Given the description of an element on the screen output the (x, y) to click on. 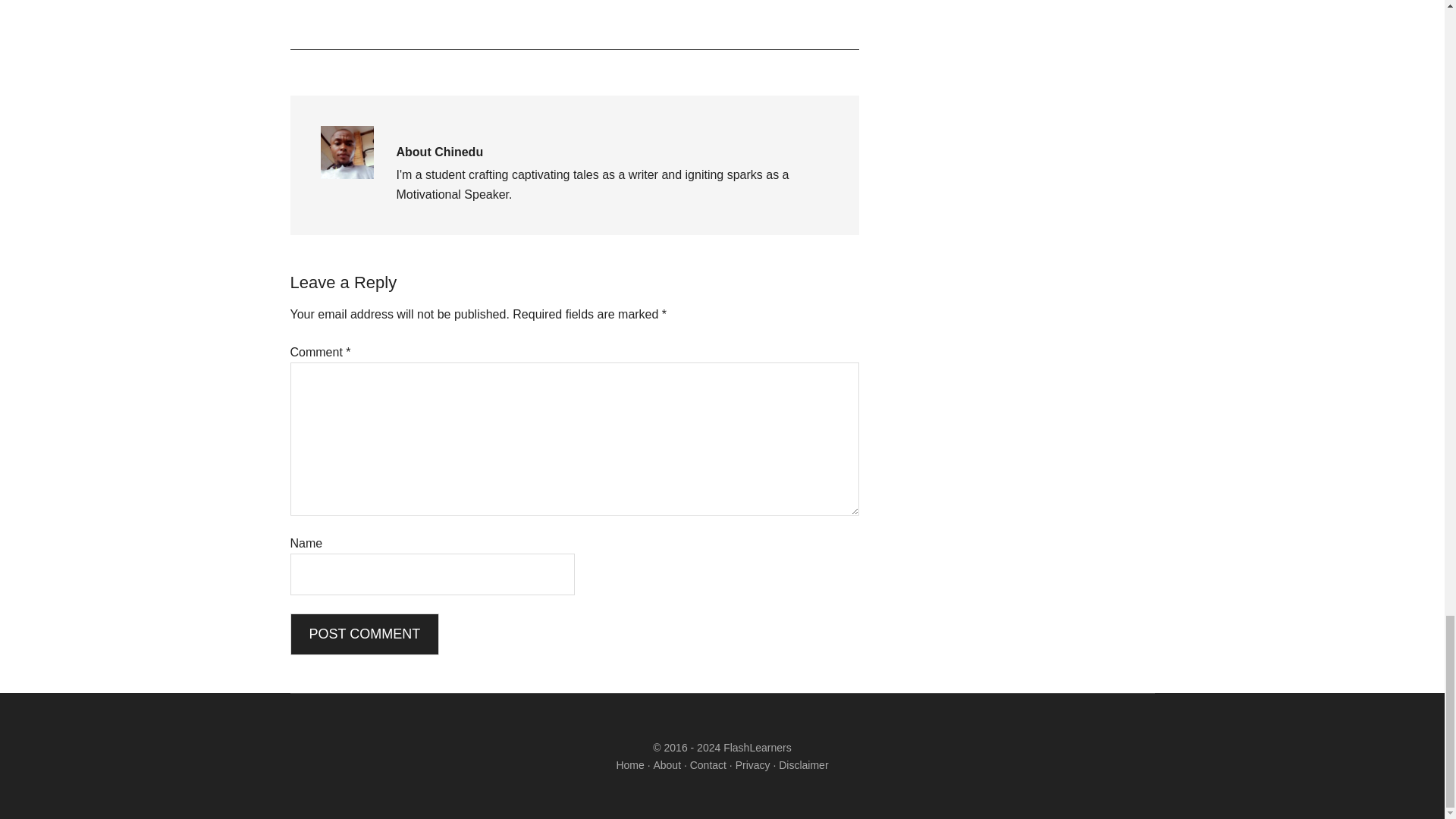
About (666, 765)
Disclaimer (803, 765)
Post Comment (364, 634)
Home (629, 765)
Privacy (752, 765)
Contact (708, 765)
Post Comment (364, 634)
